Given the description of an element on the screen output the (x, y) to click on. 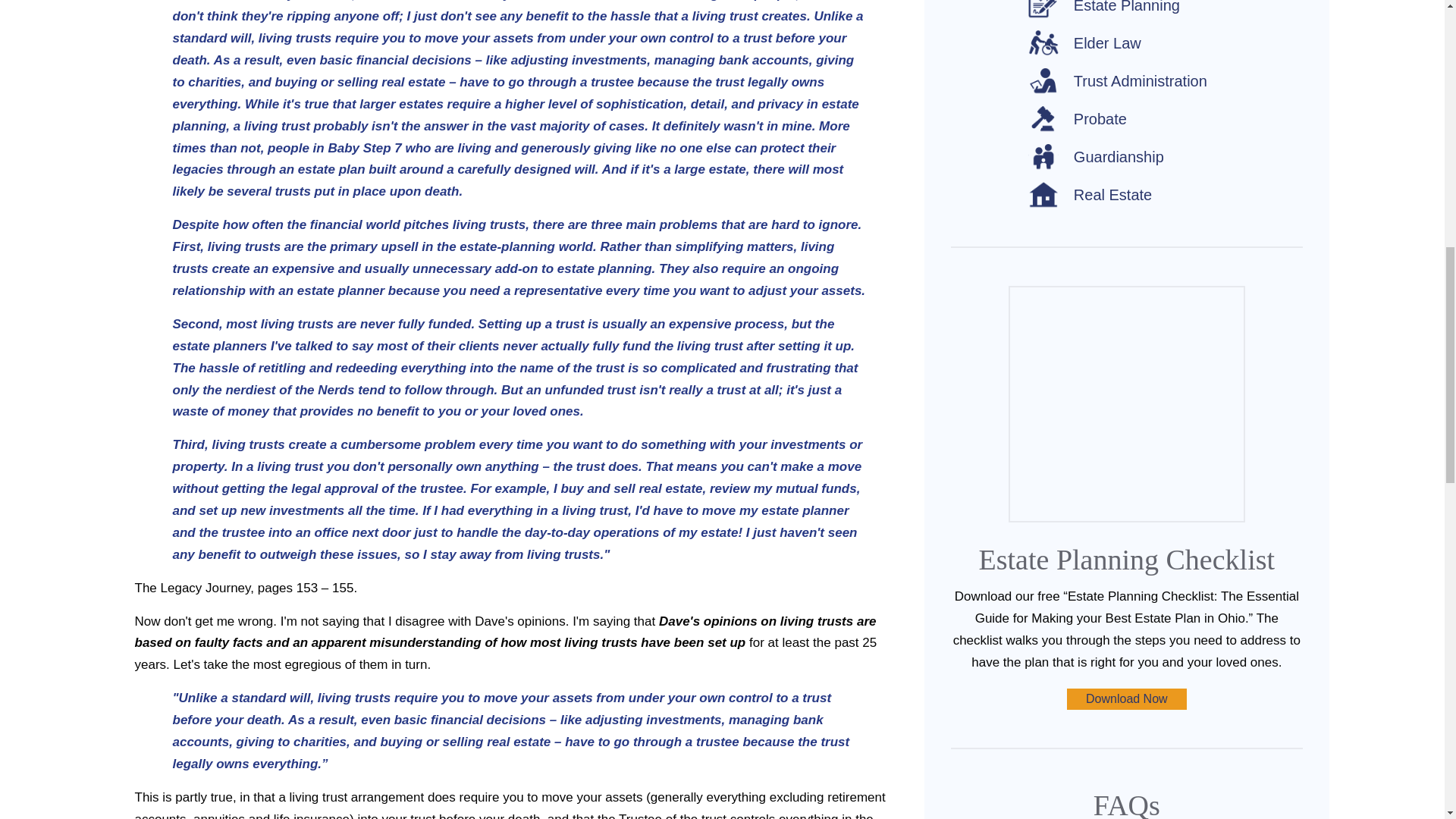
Read More about Elder Law (1084, 43)
Read More about Probate (1076, 119)
Read More about Estate Planning (1103, 9)
Read More about Trust Administration (1117, 81)
Read More about Real Estate (1089, 194)
Read More about Guardianship (1095, 157)
